Given the description of an element on the screen output the (x, y) to click on. 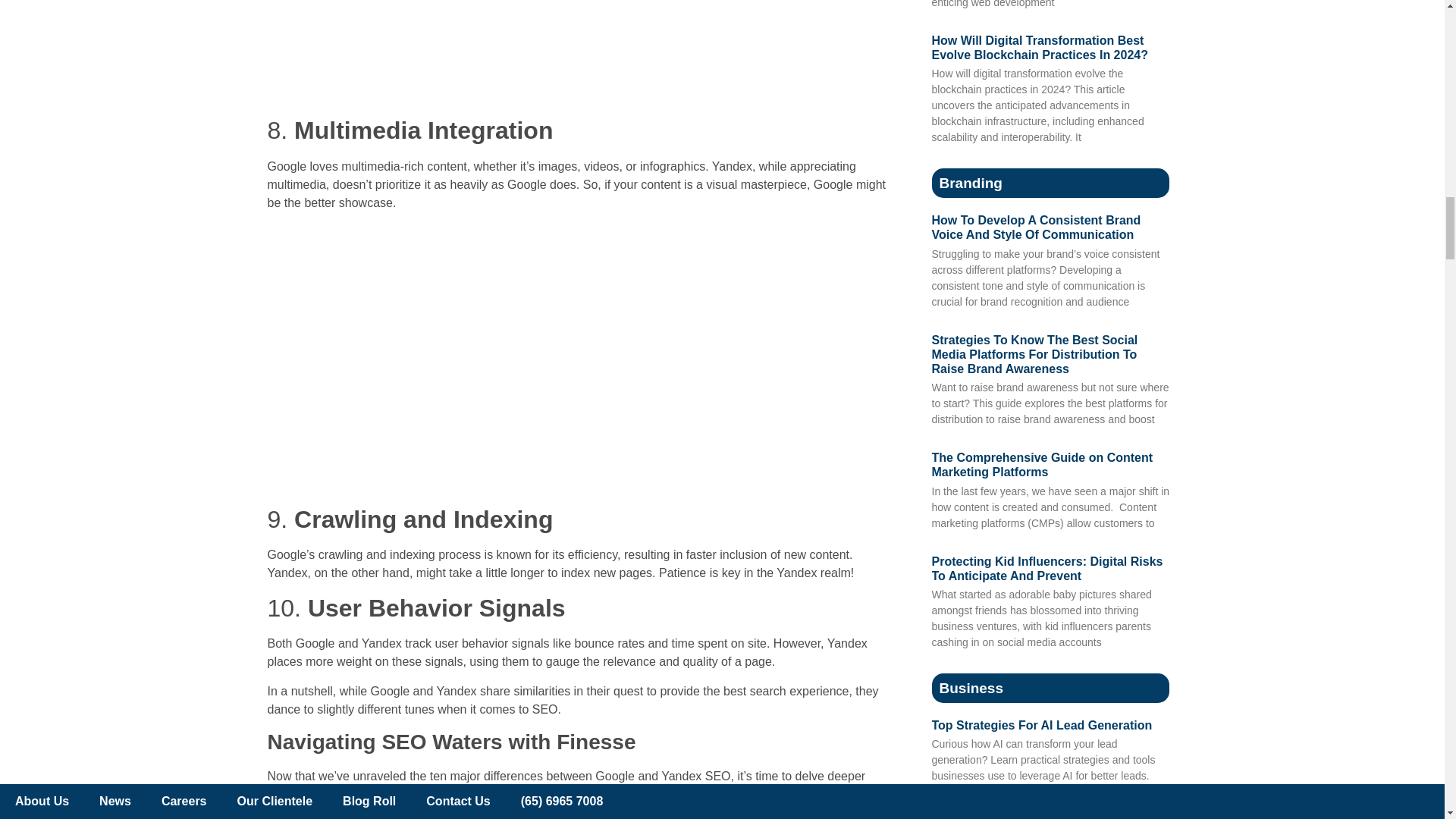
get web design agency singapore (577, 52)
